Given the description of an element on the screen output the (x, y) to click on. 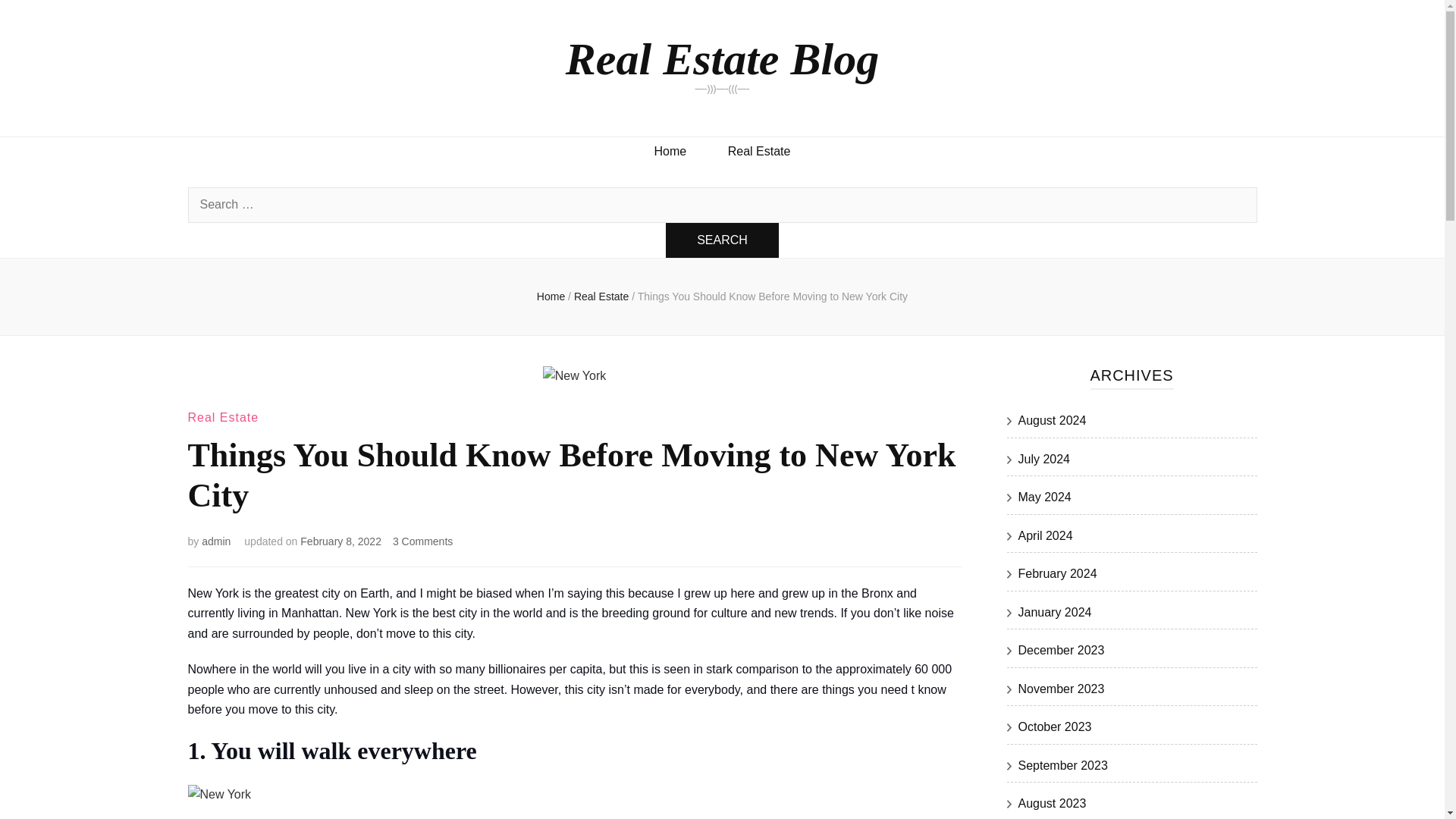
Real Estate (602, 296)
Home (670, 151)
Real Estate (759, 151)
February 8, 2022 (340, 541)
Real Estate (223, 417)
admin (216, 541)
Things You Should Know Before Moving to New York City (772, 296)
Real Estate Blog (722, 59)
Search (721, 240)
Search (721, 240)
Home (550, 296)
Search (721, 240)
